Given the description of an element on the screen output the (x, y) to click on. 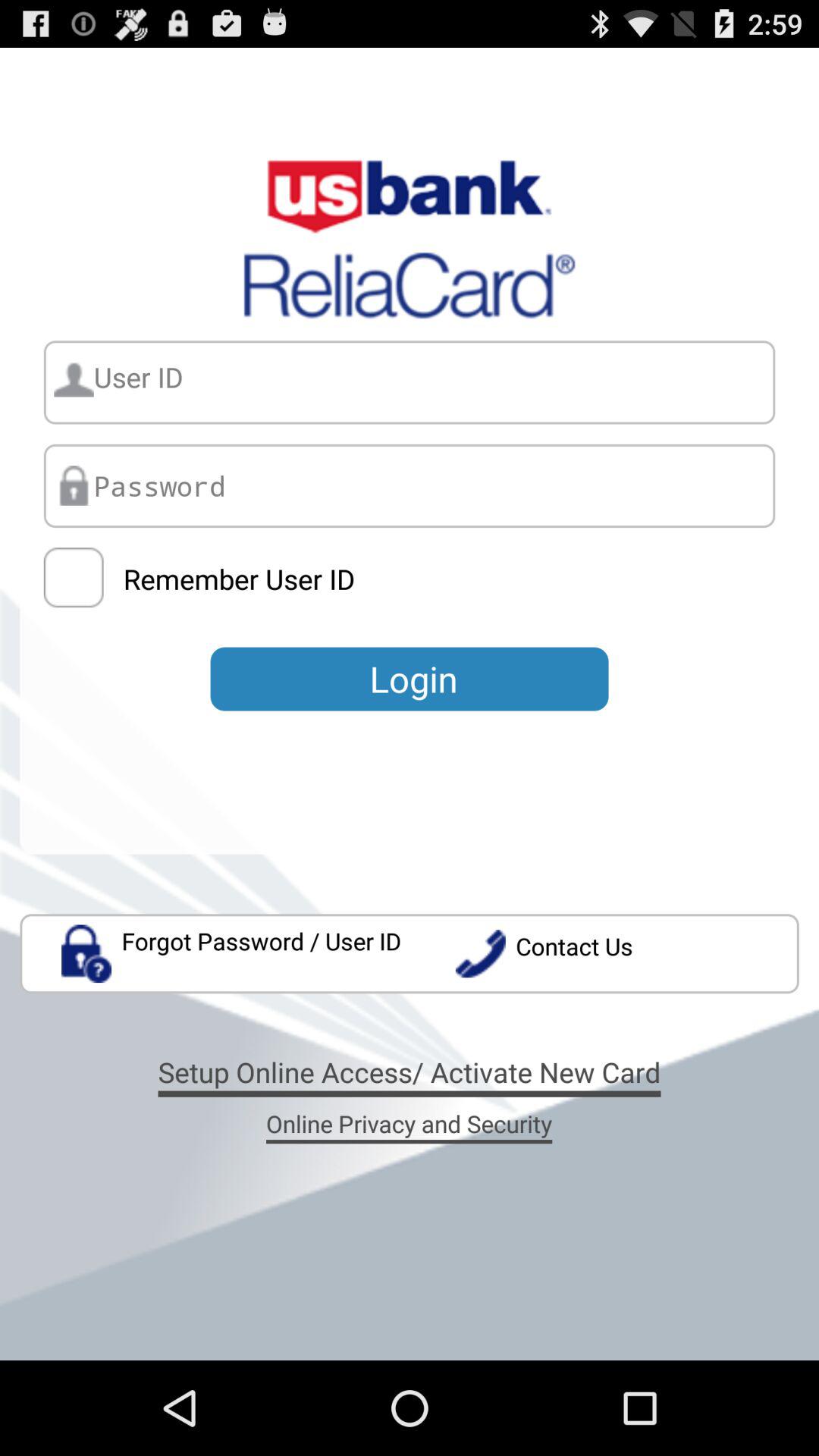
scroll until the contact us icon (626, 953)
